Given the description of an element on the screen output the (x, y) to click on. 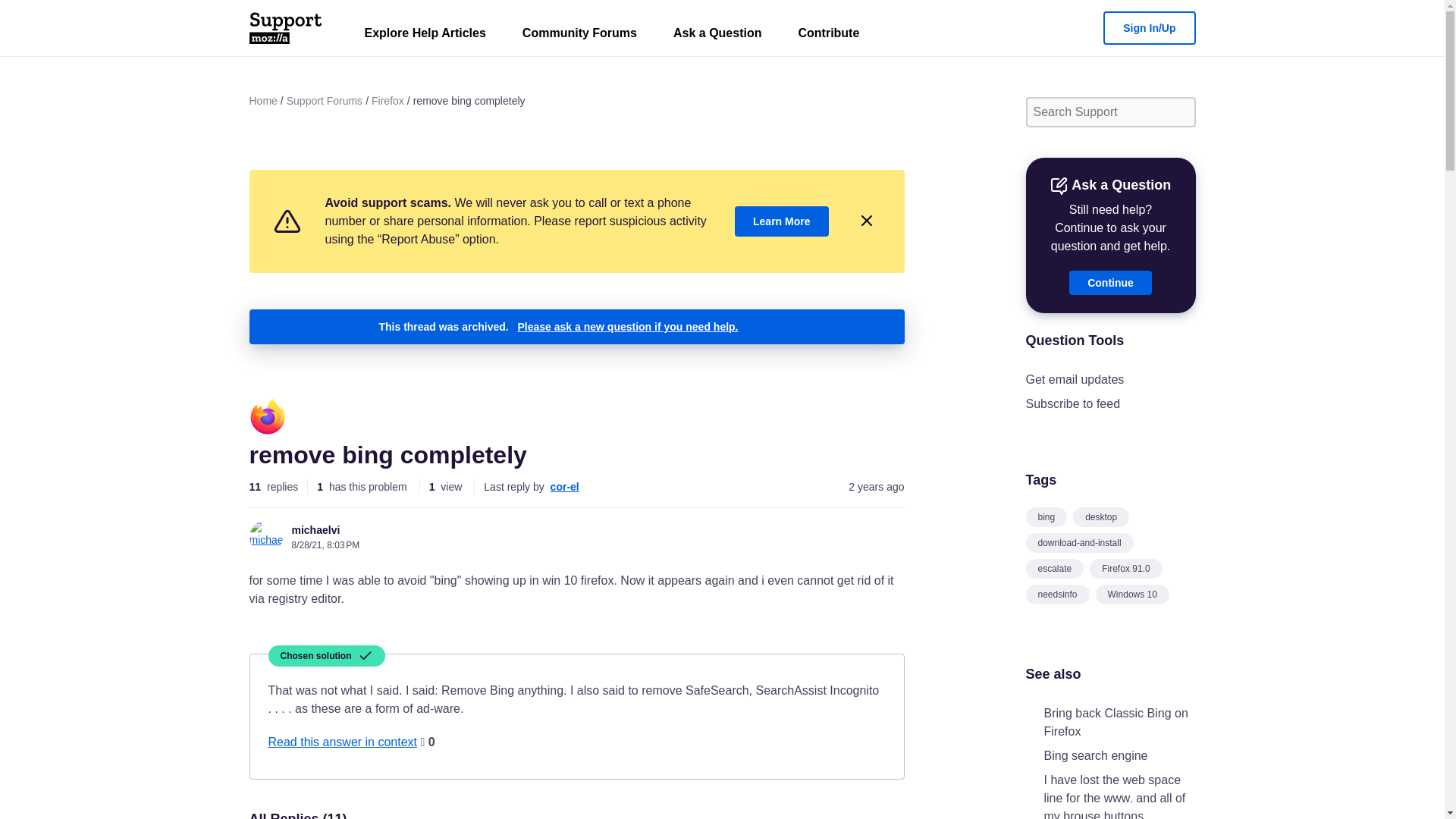
Solution chosen by michaelvi (326, 655)
Ask a Question (716, 37)
Explore Help Articles (424, 37)
Community Forums (579, 37)
Search (1178, 111)
